Given the description of an element on the screen output the (x, y) to click on. 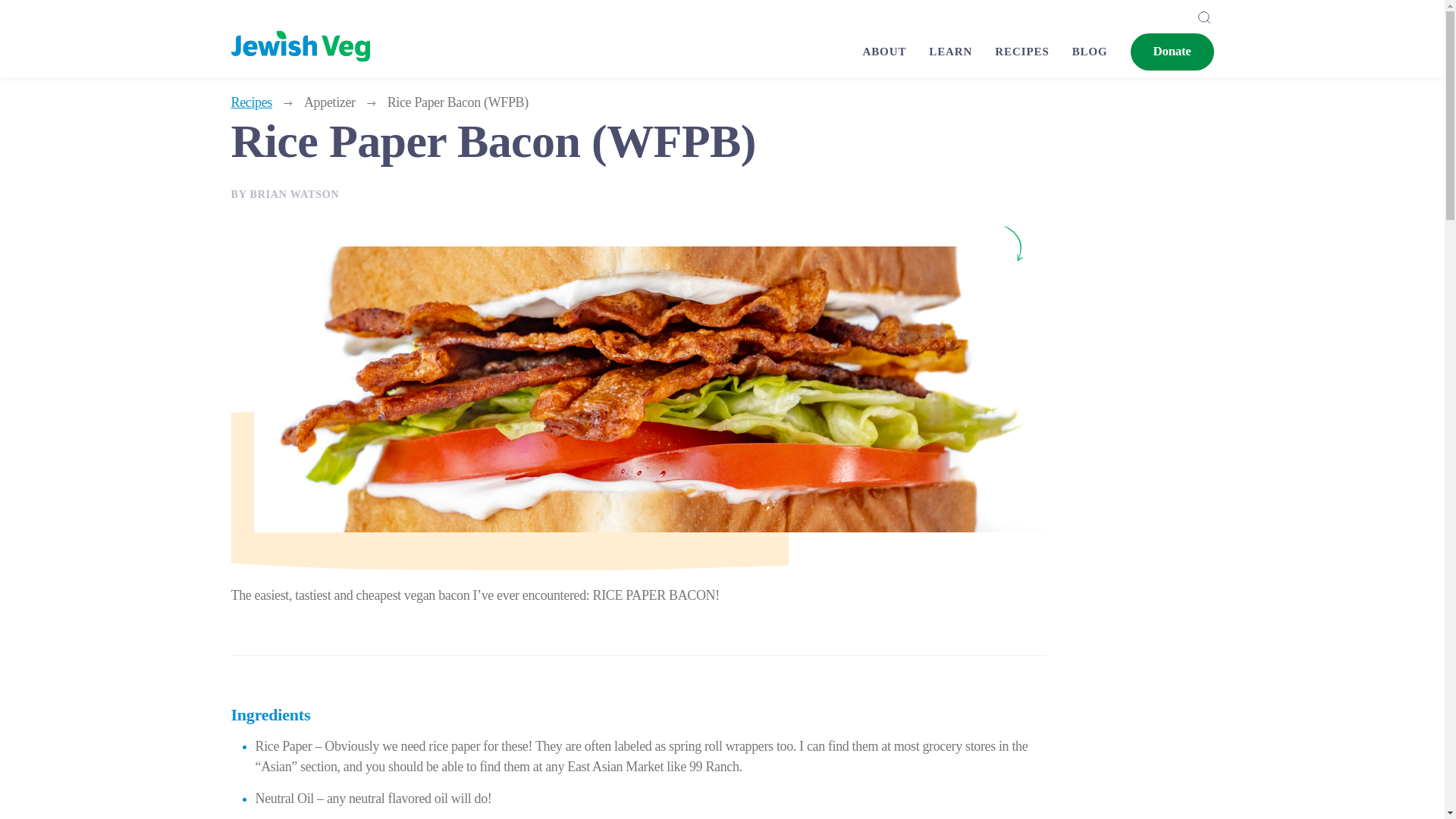
Learn (961, 51)
Search (1204, 16)
BLOG (1101, 51)
Donate (1172, 51)
ABOUT (894, 51)
Recipes (1032, 51)
Donate (1172, 51)
Blog (1101, 51)
LEARN (961, 51)
About (894, 51)
Skip To Main Content (26, 15)
Recipes (250, 101)
RECIPES (1032, 51)
